Given the description of an element on the screen output the (x, y) to click on. 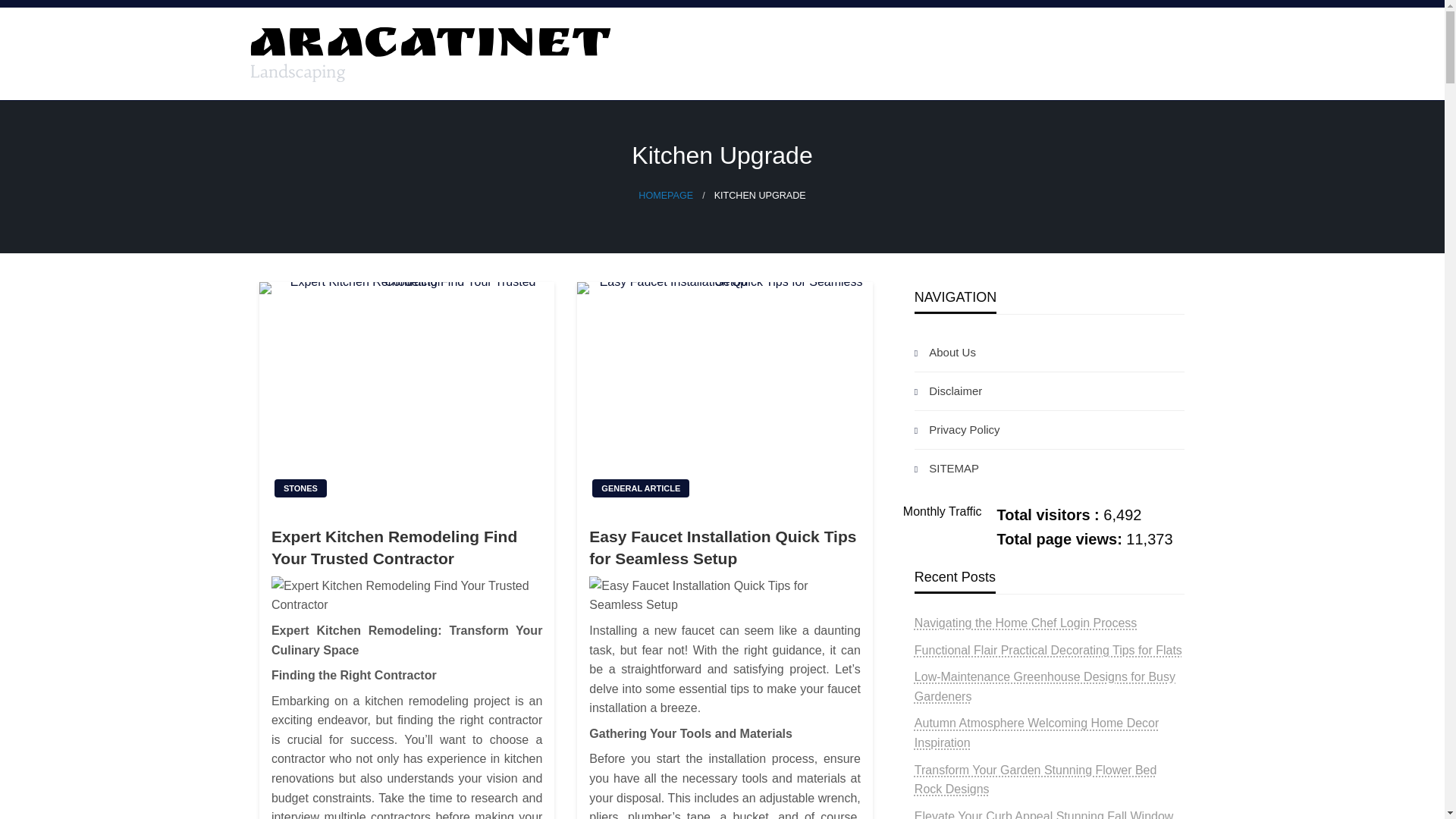
Easy Faucet Installation Quick Tips for Seamless Setup (724, 395)
Expert Kitchen Remodeling Find Your Trusted Contractor (405, 595)
HOMEPAGE (666, 195)
Homepage (666, 195)
STONES (300, 488)
Aracatinet (316, 111)
Easy Faucet Installation Quick Tips for Seamless Setup (724, 595)
GENERAL ARTICLE (640, 488)
Expert Kitchen Remodeling Find Your Trusted Contractor (405, 547)
Expert Kitchen Remodeling Find Your Trusted Contractor (406, 395)
